Given the description of an element on the screen output the (x, y) to click on. 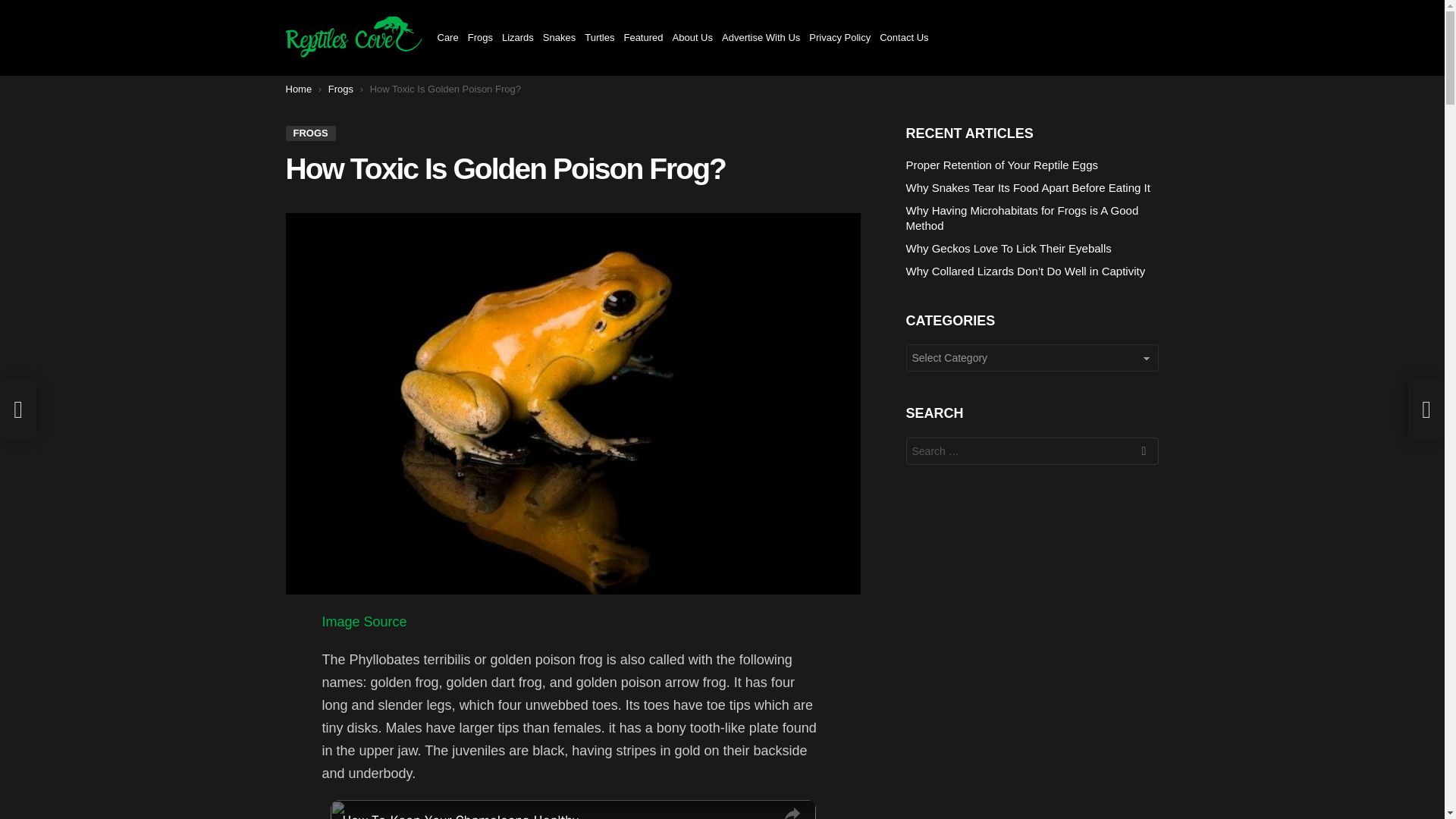
Share (791, 809)
Snakes (559, 37)
Image Source (363, 621)
FROGS (309, 133)
Contact Us (903, 37)
Featured (642, 37)
How To Keep Your Chameleons Healthy (556, 814)
Care (447, 37)
Home (298, 89)
share (791, 809)
Privacy Policy (839, 37)
Turtles (599, 37)
About Us (692, 37)
Frogs (480, 37)
Advertise With Us (760, 37)
